Given the description of an element on the screen output the (x, y) to click on. 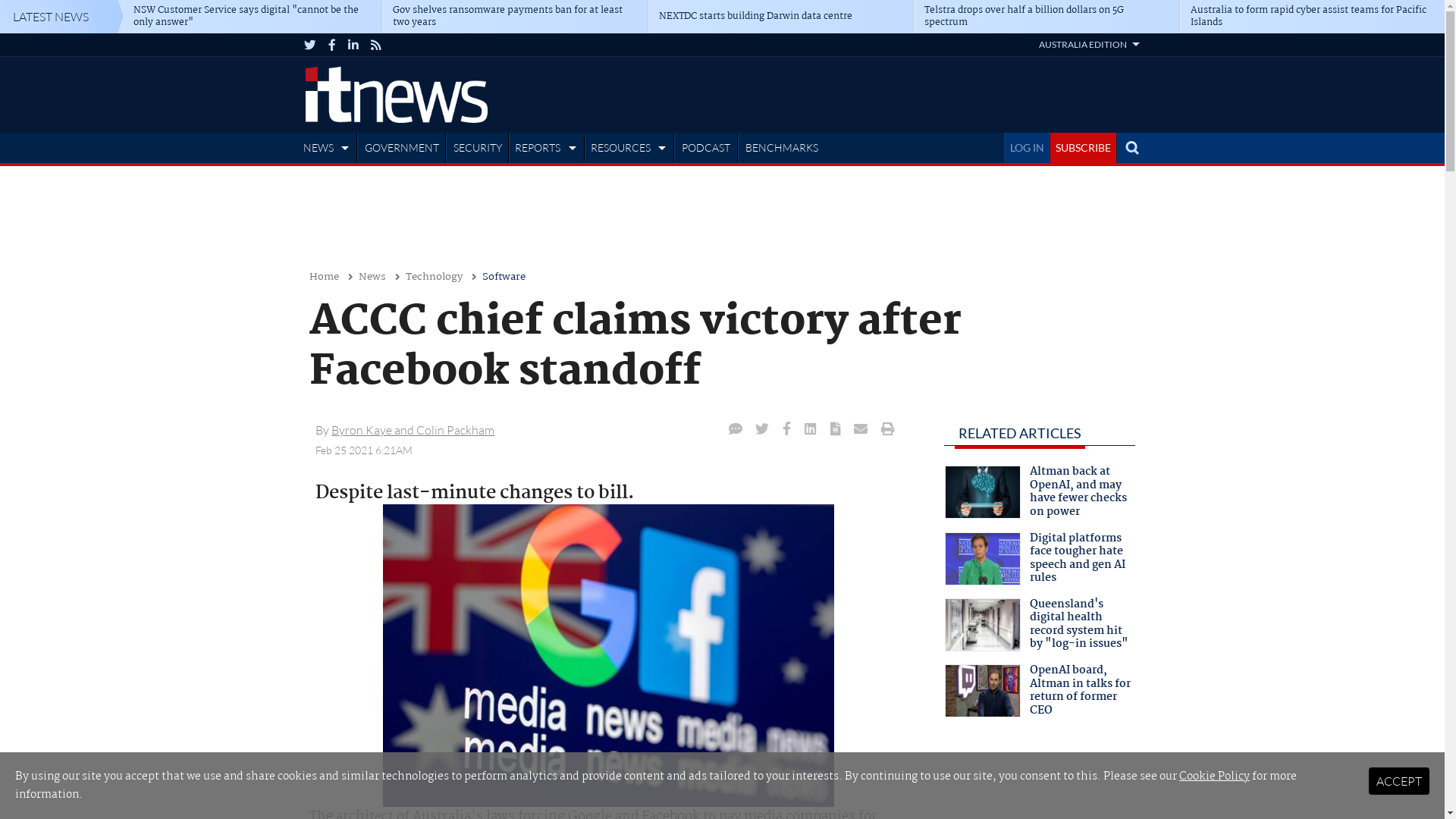
NEXTDC starts building Darwin data centre Element type: text (780, 16)
Share on Twitter Element type: hover (762, 429)
Share on Facebook Element type: hover (786, 429)
AUSTRALIA EDITION Element type: text (1088, 44)
LATEST NEWS Element type: text (62, 16)
ACCEPT Element type: text (1398, 780)
Email A Friend Element type: hover (860, 429)
Send Feedback Element type: hover (835, 429)
Digital platforms face tougher hate speech and gen AI rules Element type: text (1039, 563)
GOVERNMENT Element type: text (401, 147)
SECURITY Element type: text (477, 147)
Print Element type: hover (887, 429)
RESOURCES Element type: text (630, 147)
Byron Kaye and Colin Packham Element type: text (412, 429)
PODCAST Element type: text (705, 147)
REPORTS Element type: text (547, 147)
Share on LinkedIn Element type: hover (810, 429)
Altman back at OpenAI, and may have fewer checks on power Element type: text (1039, 496)
Join the Conversation Element type: hover (735, 429)
Cookie Policy Element type: text (1214, 776)
Home Element type: text (323, 277)
OpenAI board, Altman in talks for return of former CEO Element type: text (1039, 695)
Technology Element type: text (433, 277)
  Element type: text (1131, 147)
NEWS Element type: text (327, 147)
Gov shelves ransomware payments ban for at least two years Element type: text (513, 16)
News Element type: text (371, 277)
Telstra drops over half a billion dollars on 5G spectrum Element type: text (1045, 16)
Software Element type: text (503, 277)
BENCHMARKS Element type: text (781, 147)
LOG IN Element type: text (1026, 147)
SUBSCRIBE Element type: text (1082, 147)
